Given the description of an element on the screen output the (x, y) to click on. 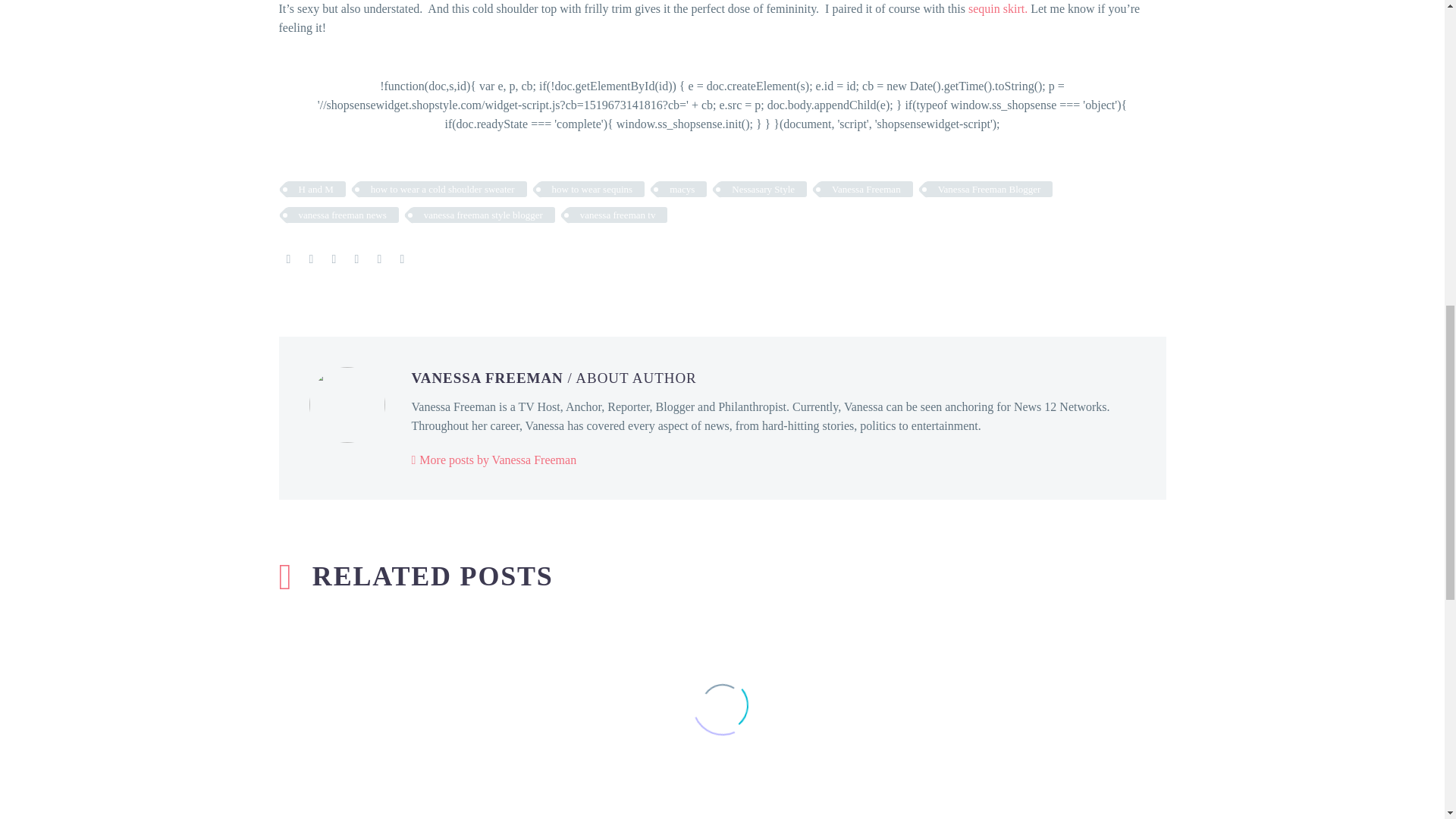
vanessa freeman news (342, 214)
how to wear a cold shoulder sweater (442, 188)
Twitter (310, 259)
macys (682, 188)
sequin skirt. (997, 8)
how to wear sequins (592, 188)
Facebook (288, 259)
LinkedIn (378, 259)
Reddit (401, 259)
vanessa freeman tv (617, 214)
vanessa freeman style blogger (483, 214)
H and M (316, 188)
Vanessa Freeman Blogger (989, 188)
Tumblr (356, 259)
Nessasary Style (762, 188)
